Given the description of an element on the screen output the (x, y) to click on. 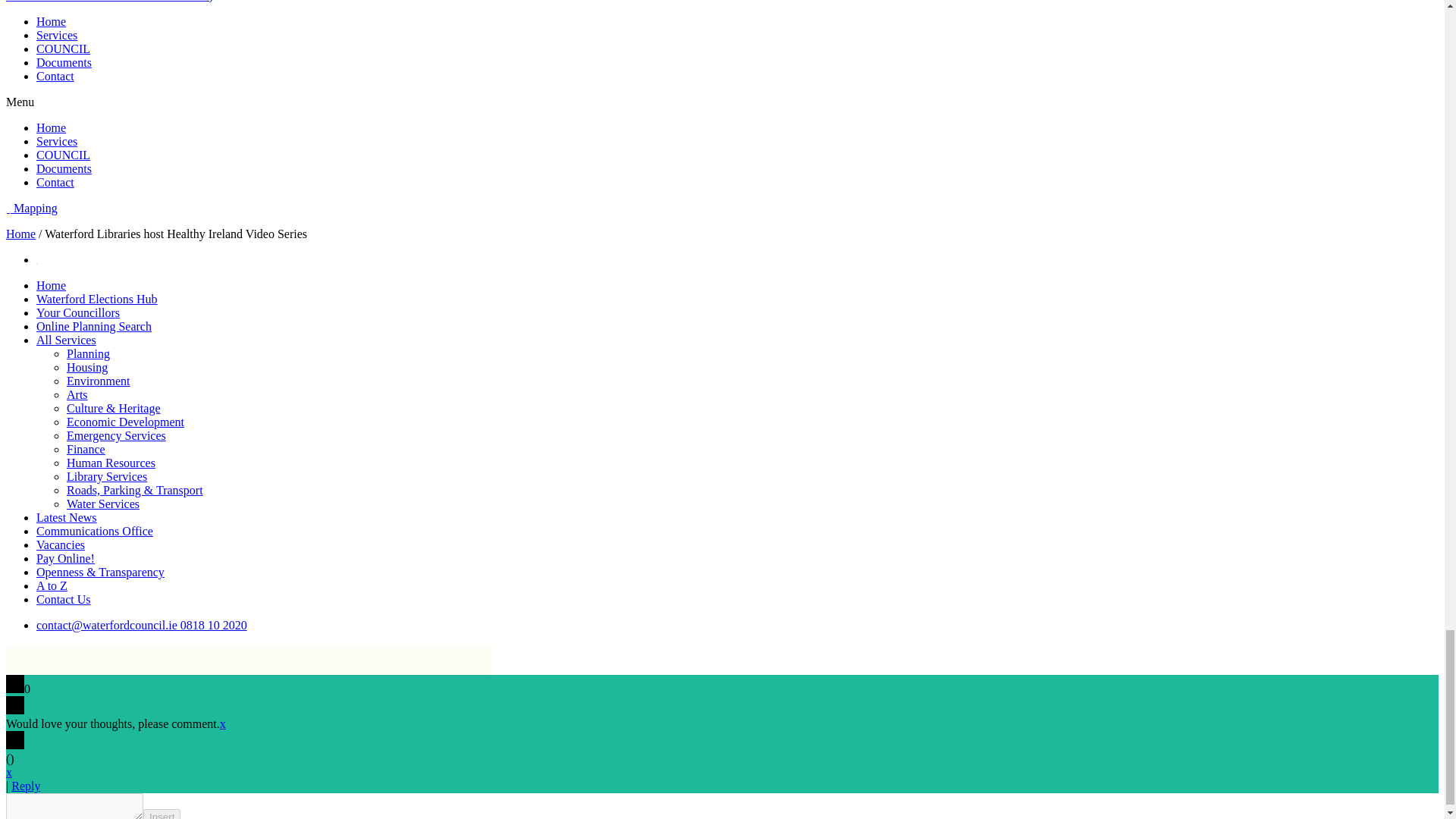
Home (50, 21)
COUNCIL (63, 48)
Contact (55, 75)
Services (56, 34)
Documents (63, 62)
